Given the description of an element on the screen output the (x, y) to click on. 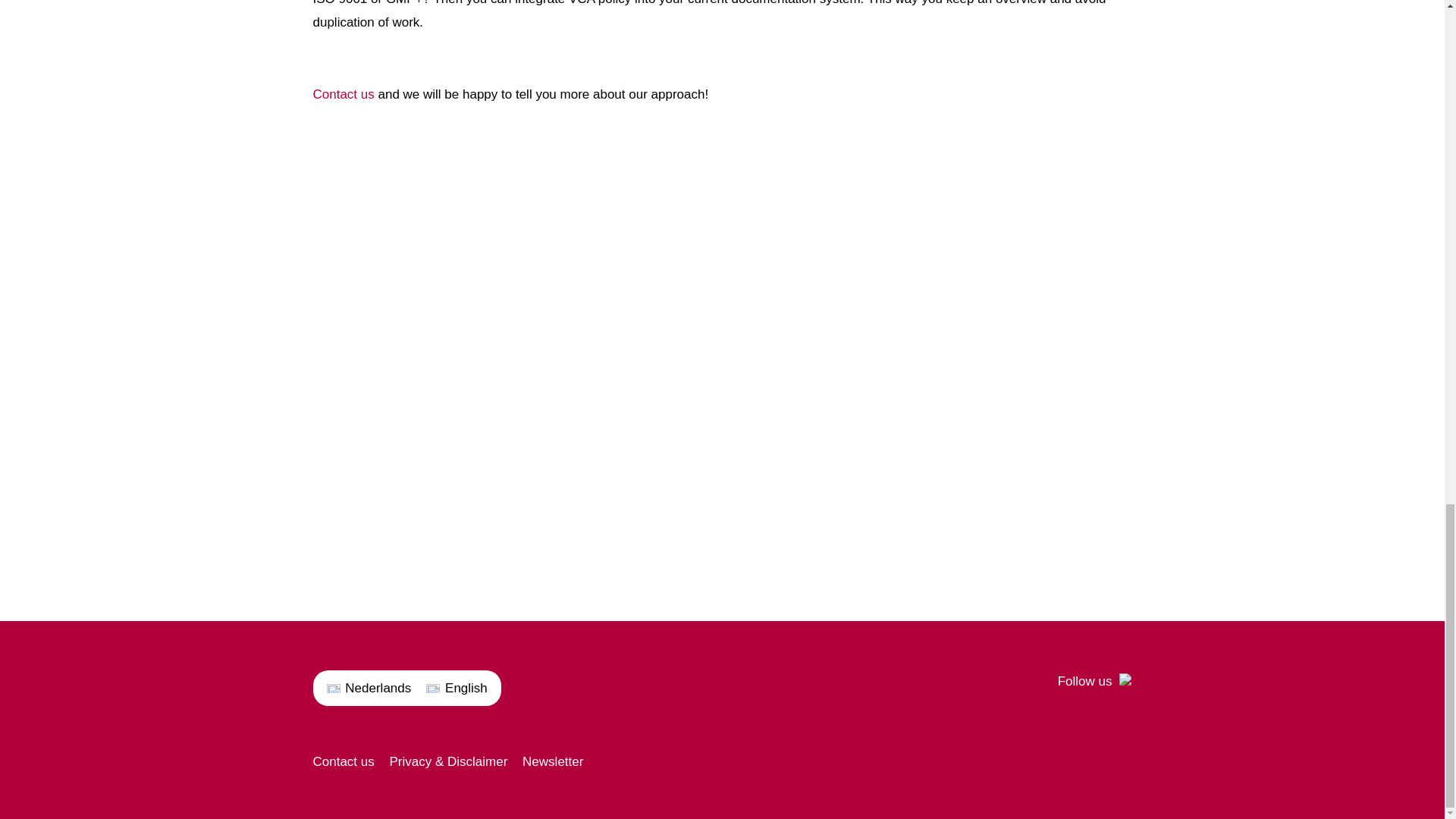
Contact us (343, 93)
